Given the description of an element on the screen output the (x, y) to click on. 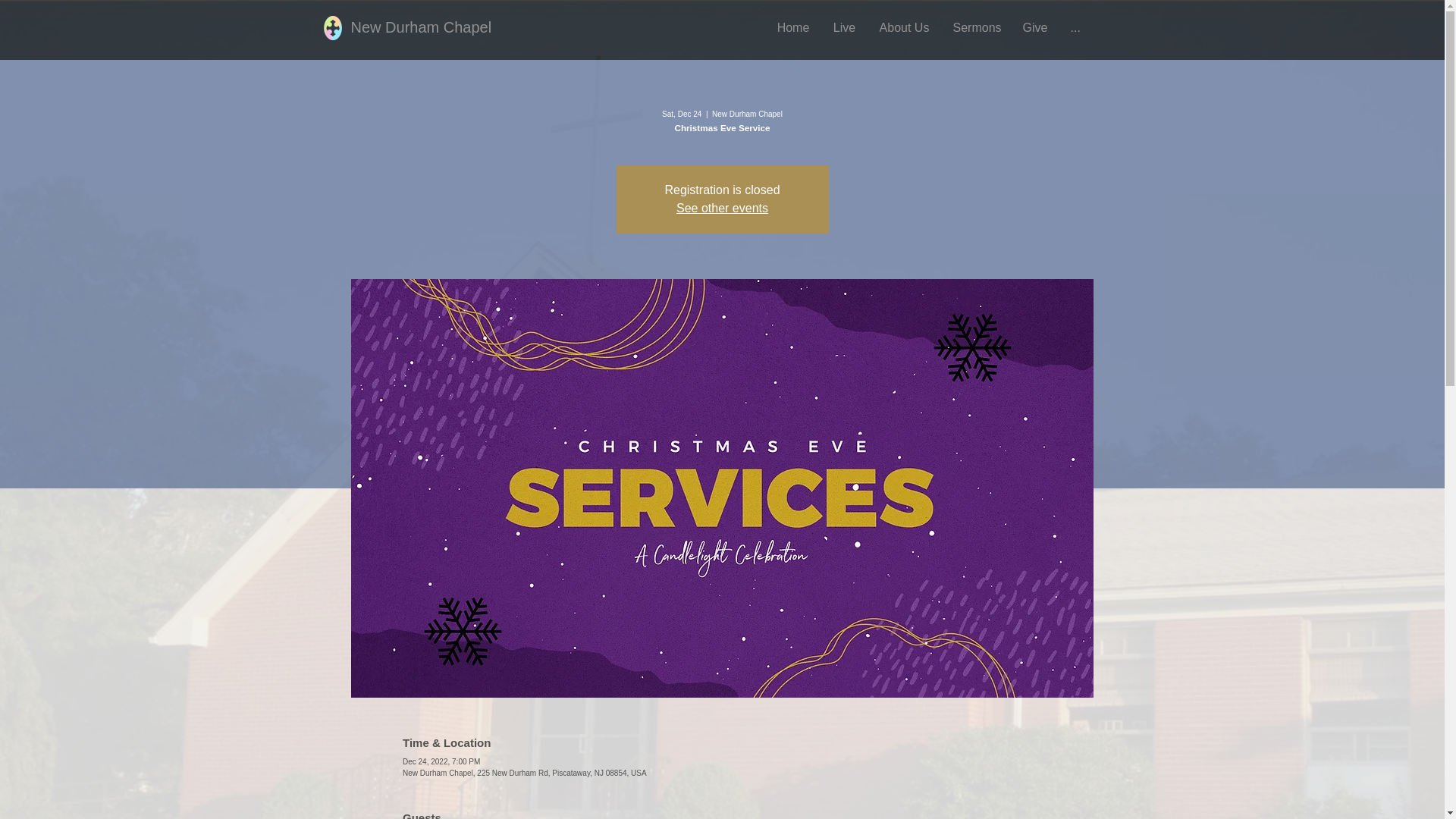
Home (793, 27)
New Durham Chapel (421, 27)
Live (844, 27)
Sermons (976, 27)
About Us (903, 27)
See other events (722, 207)
Give (1034, 27)
